Given the description of an element on the screen output the (x, y) to click on. 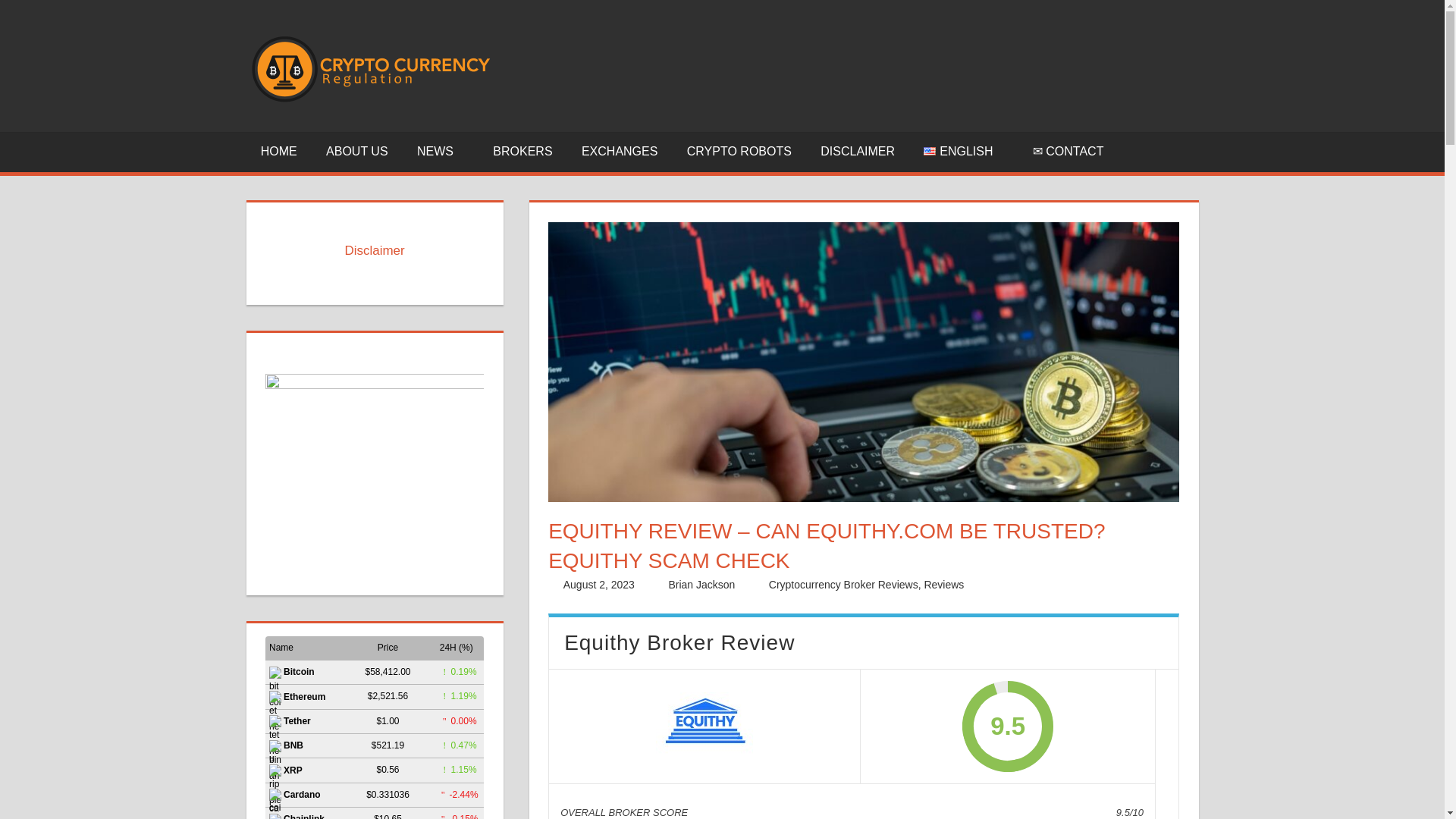
August 2, 2023 (598, 584)
Reviews (943, 584)
Brian Jackson (701, 584)
Equithy Broker Review (704, 726)
Leave a comment (1036, 584)
ENGLISH (962, 151)
BROKERS (523, 151)
CRYPTO ROBOTS (739, 151)
HOME (278, 151)
NEWS (441, 151)
